Given the description of an element on the screen output the (x, y) to click on. 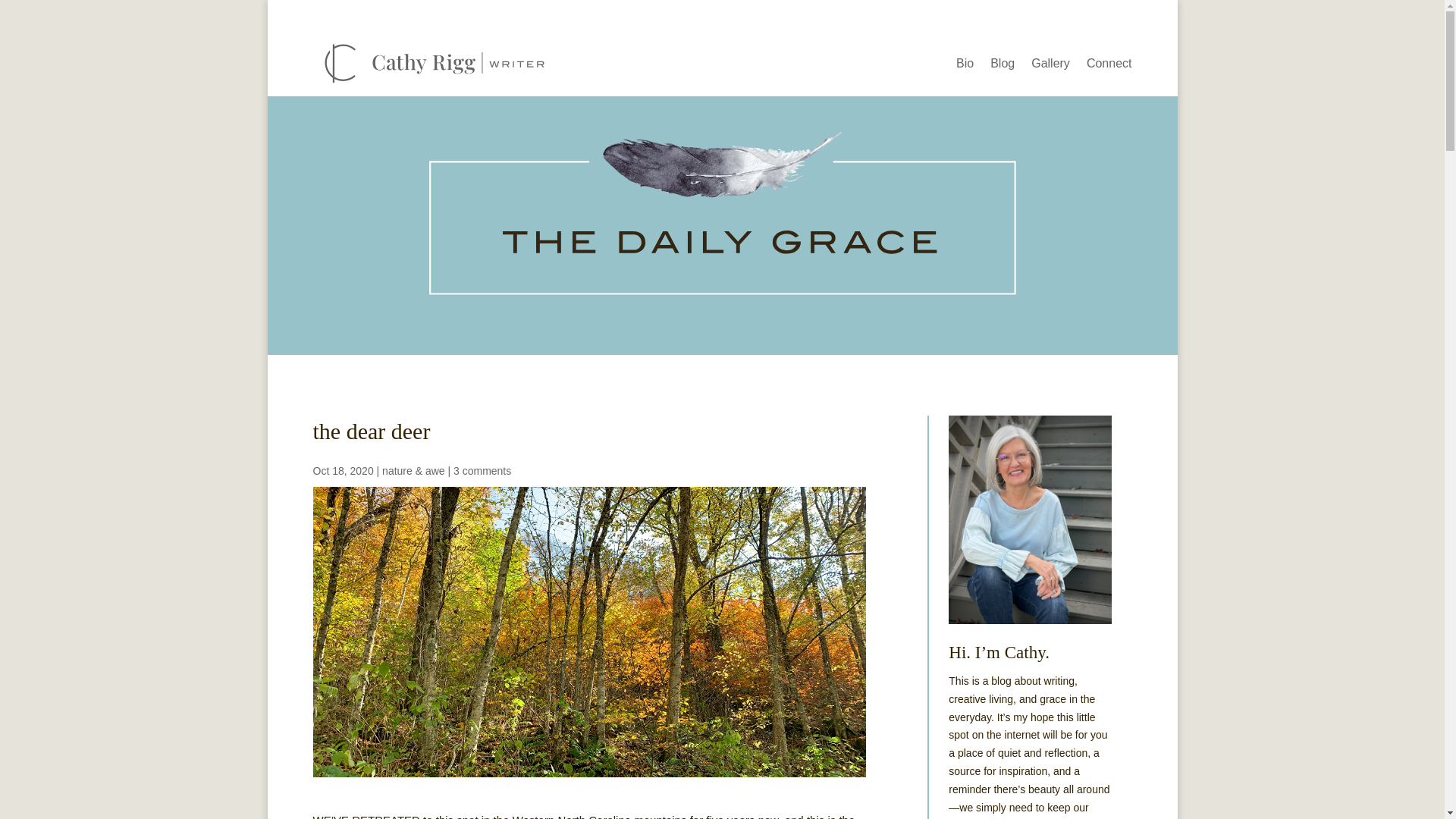
Blog (1002, 66)
The Daily Grace (721, 213)
Gallery (1050, 66)
3 comments (481, 470)
Connect (1109, 66)
Bio (965, 66)
